Given the description of an element on the screen output the (x, y) to click on. 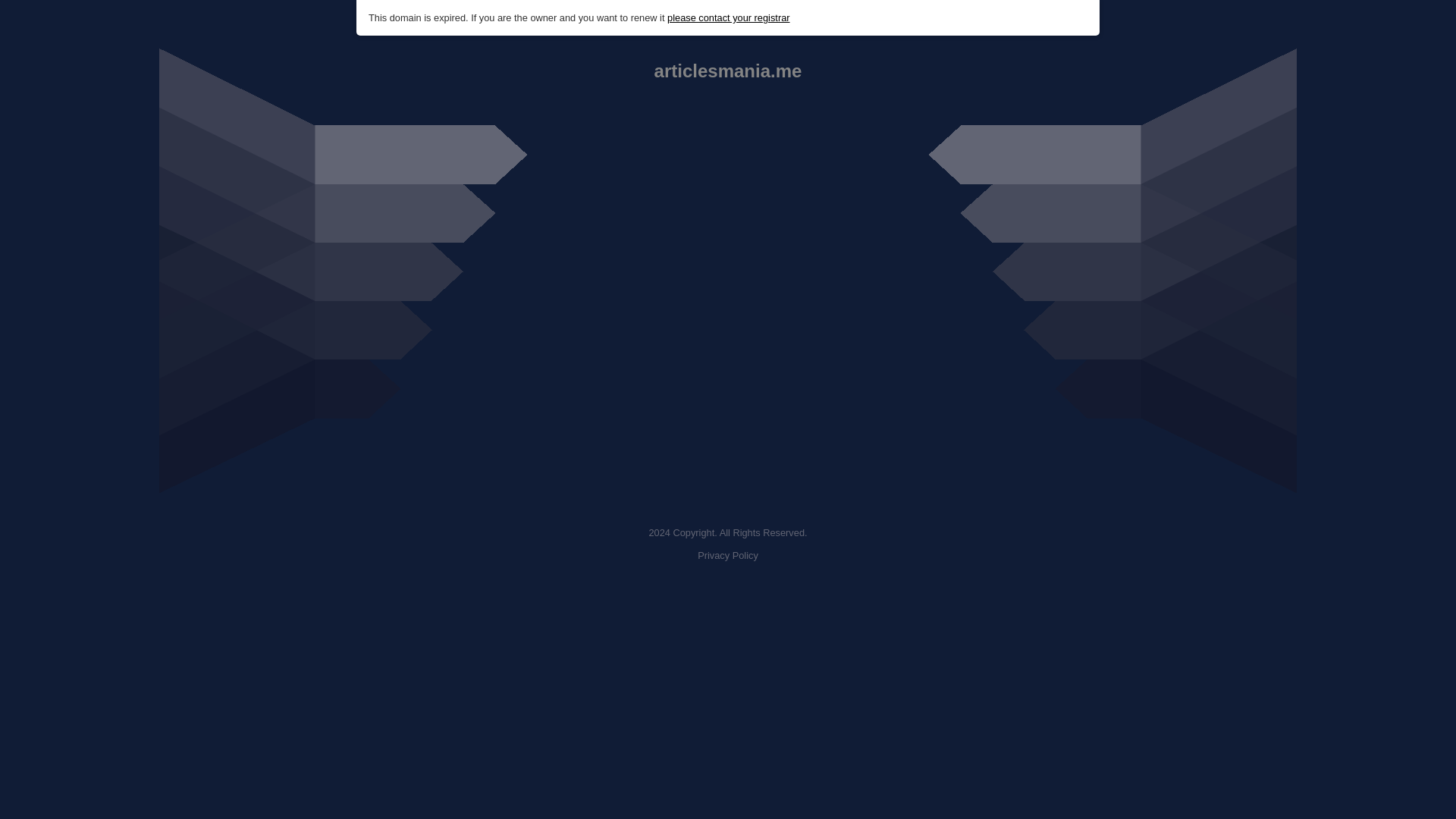
please contact your registrar (727, 17)
Privacy Policy (727, 555)
